Given the description of an element on the screen output the (x, y) to click on. 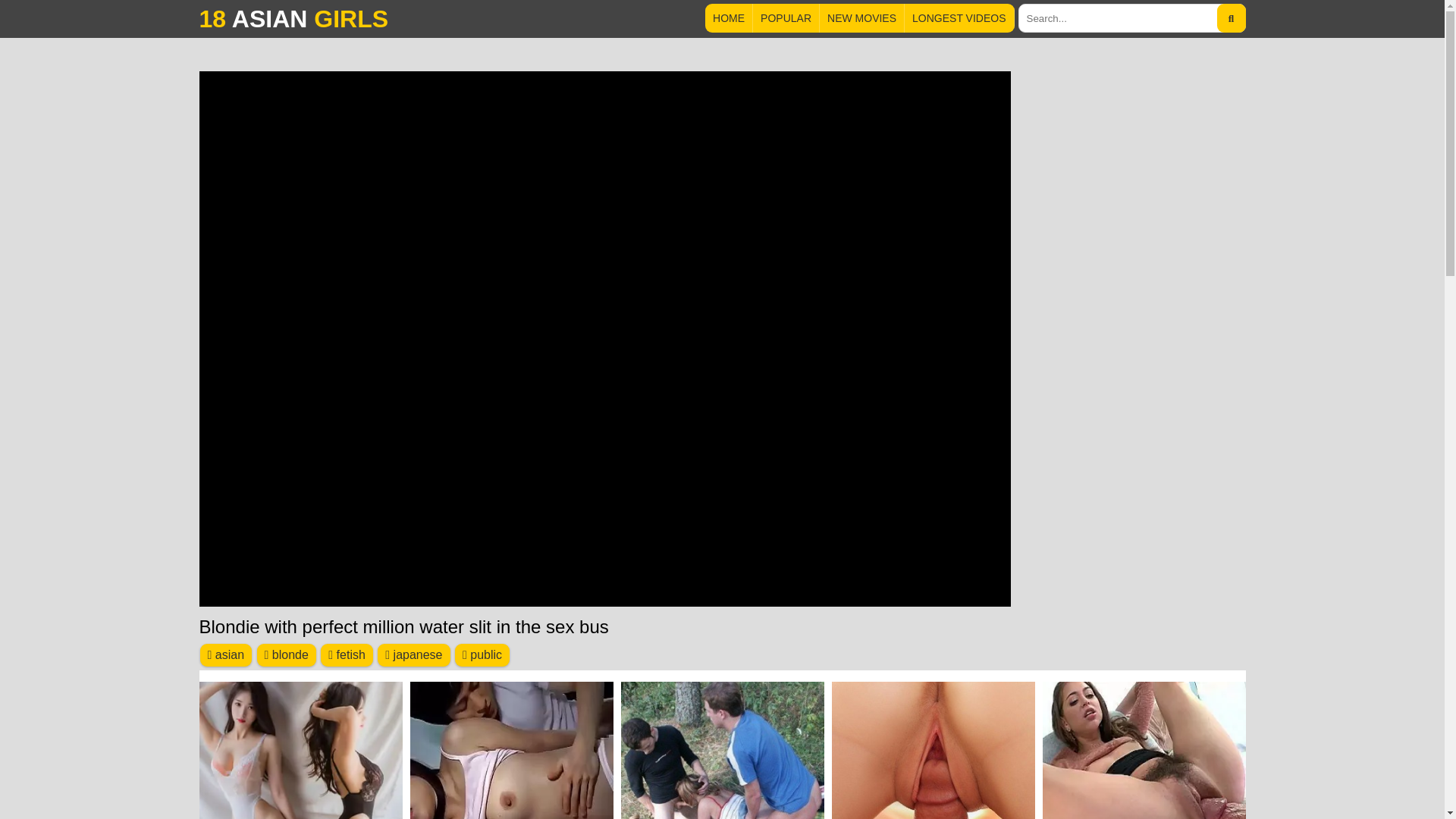
Hot chick framed her pussy (932, 750)
public (481, 654)
blonde (285, 654)
Mommy wants to teach her son to fuck (1143, 750)
HOME (728, 18)
LONGEST VIDEOS (958, 18)
Milf teaches a young guy to fuck (510, 750)
A young blonde got a double penetration (722, 750)
asian (225, 654)
NEW MOVIES (861, 18)
